Given the description of an element on the screen output the (x, y) to click on. 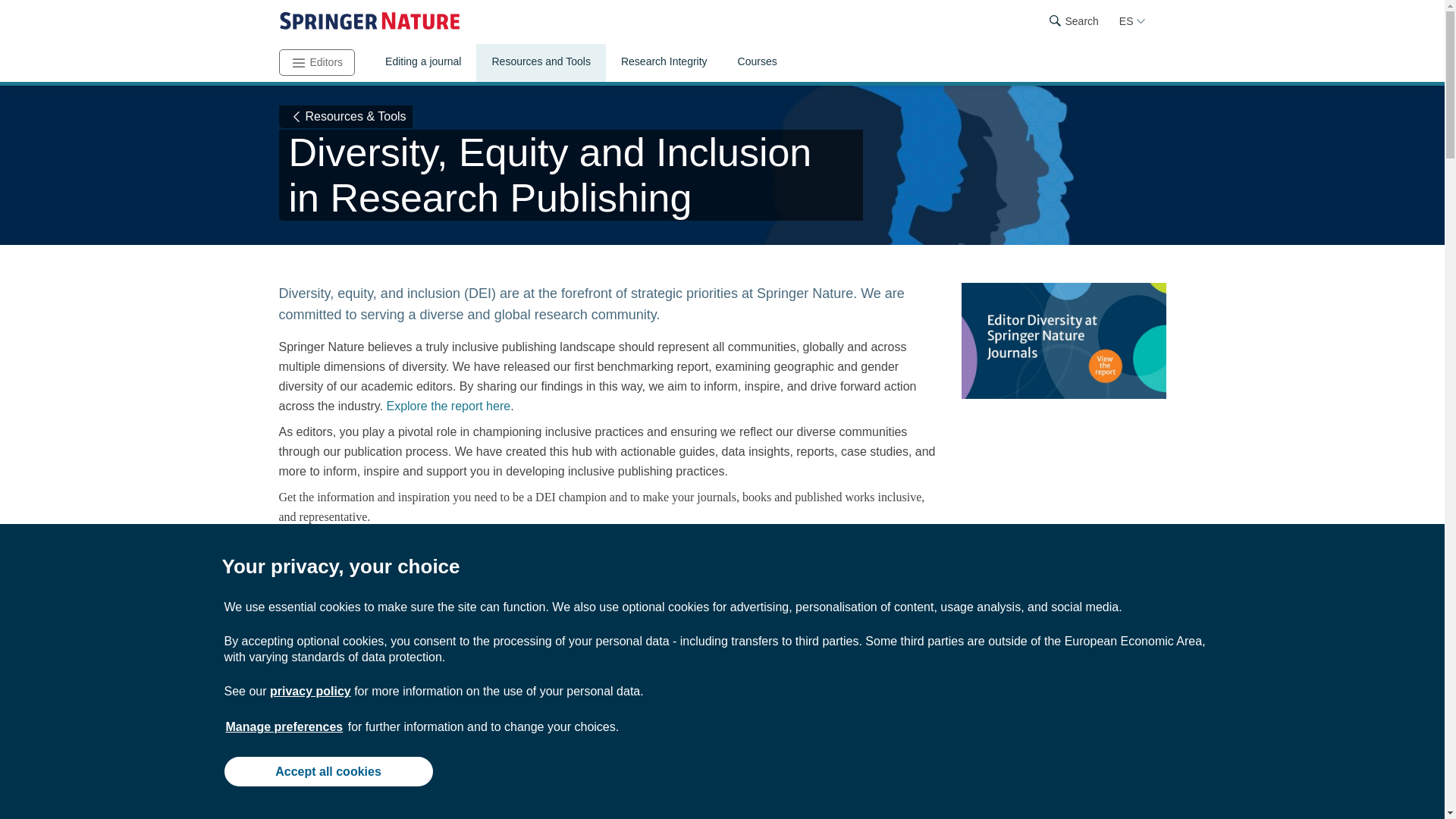
Research Integrity (663, 62)
privacy policy (309, 690)
Manage preferences (284, 726)
Accept all cookies (328, 771)
Resources and Tools (540, 62)
Editing a journal (422, 62)
Courses (757, 62)
Springer Nature (369, 20)
Editors (317, 62)
